Given the description of an element on the screen output the (x, y) to click on. 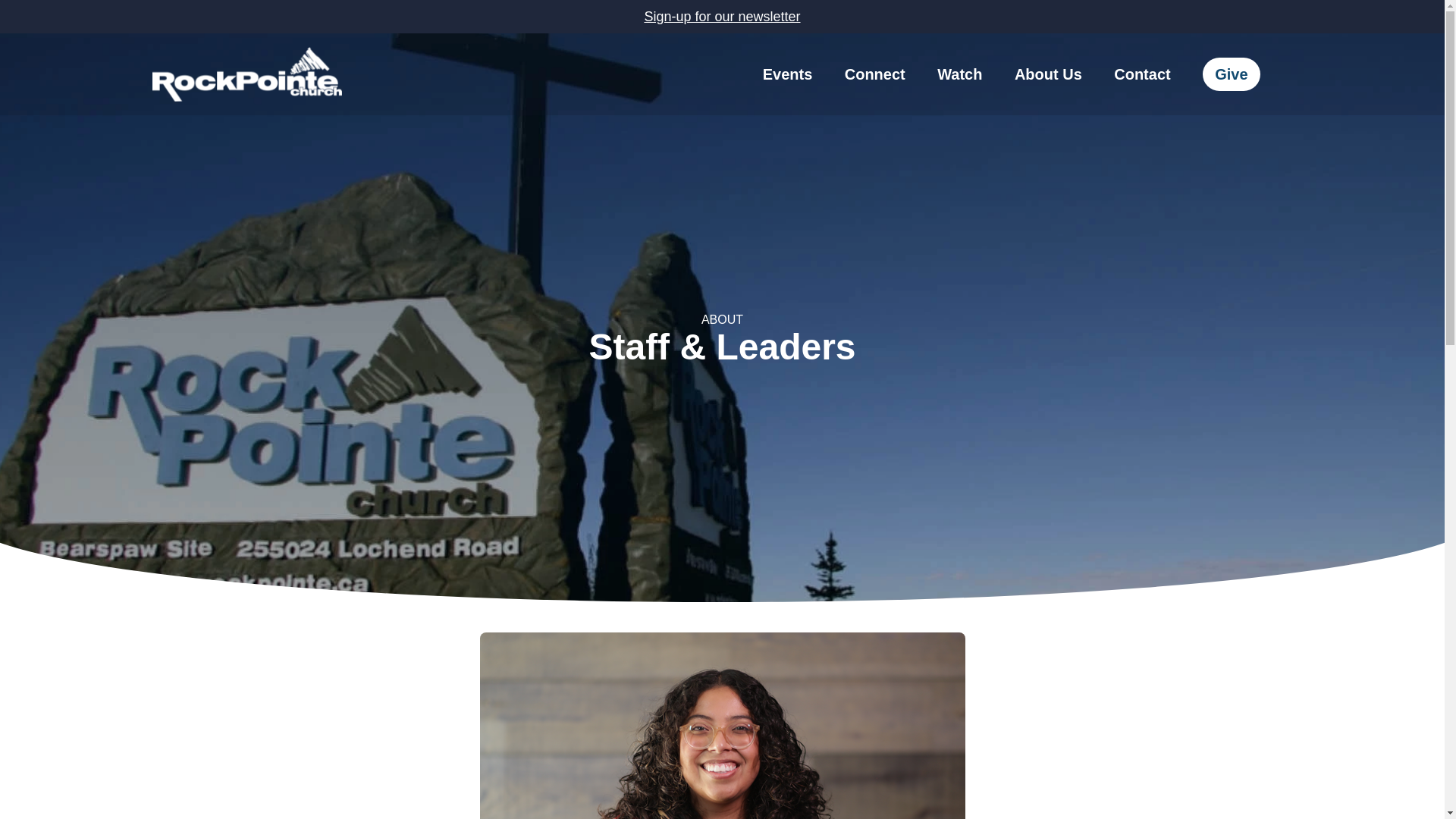
Watch (959, 74)
About Us (1047, 74)
Give (1230, 73)
Connect (874, 74)
Contact (1141, 74)
Events (787, 74)
Sign-up for our newsletter (721, 16)
